Given the description of an element on the screen output the (x, y) to click on. 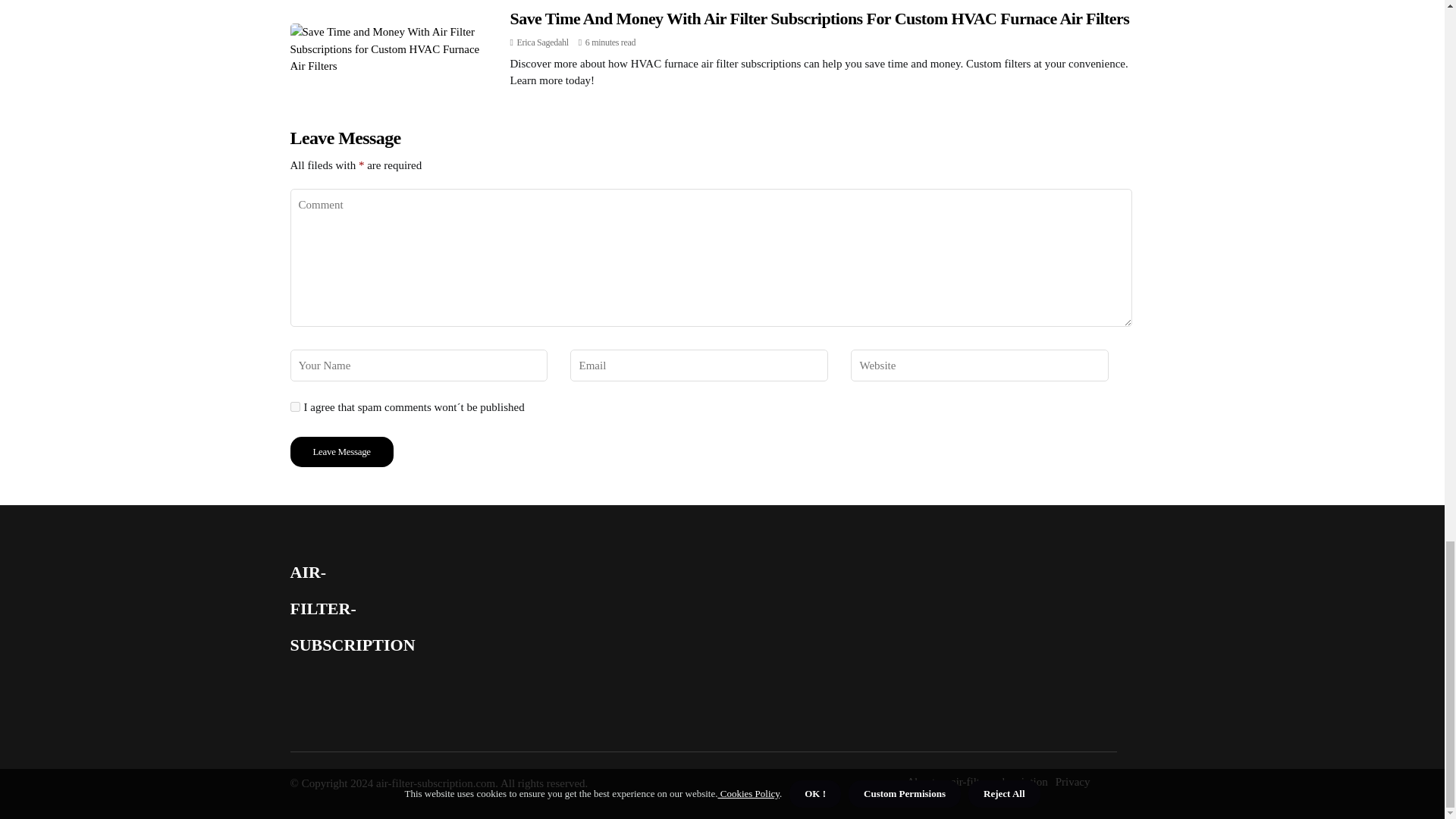
Erica Sagedahl (542, 41)
Leave Message (341, 451)
Leave Message (341, 451)
Posts by Erica Sagedahl (542, 41)
yes (294, 406)
